Given the description of an element on the screen output the (x, y) to click on. 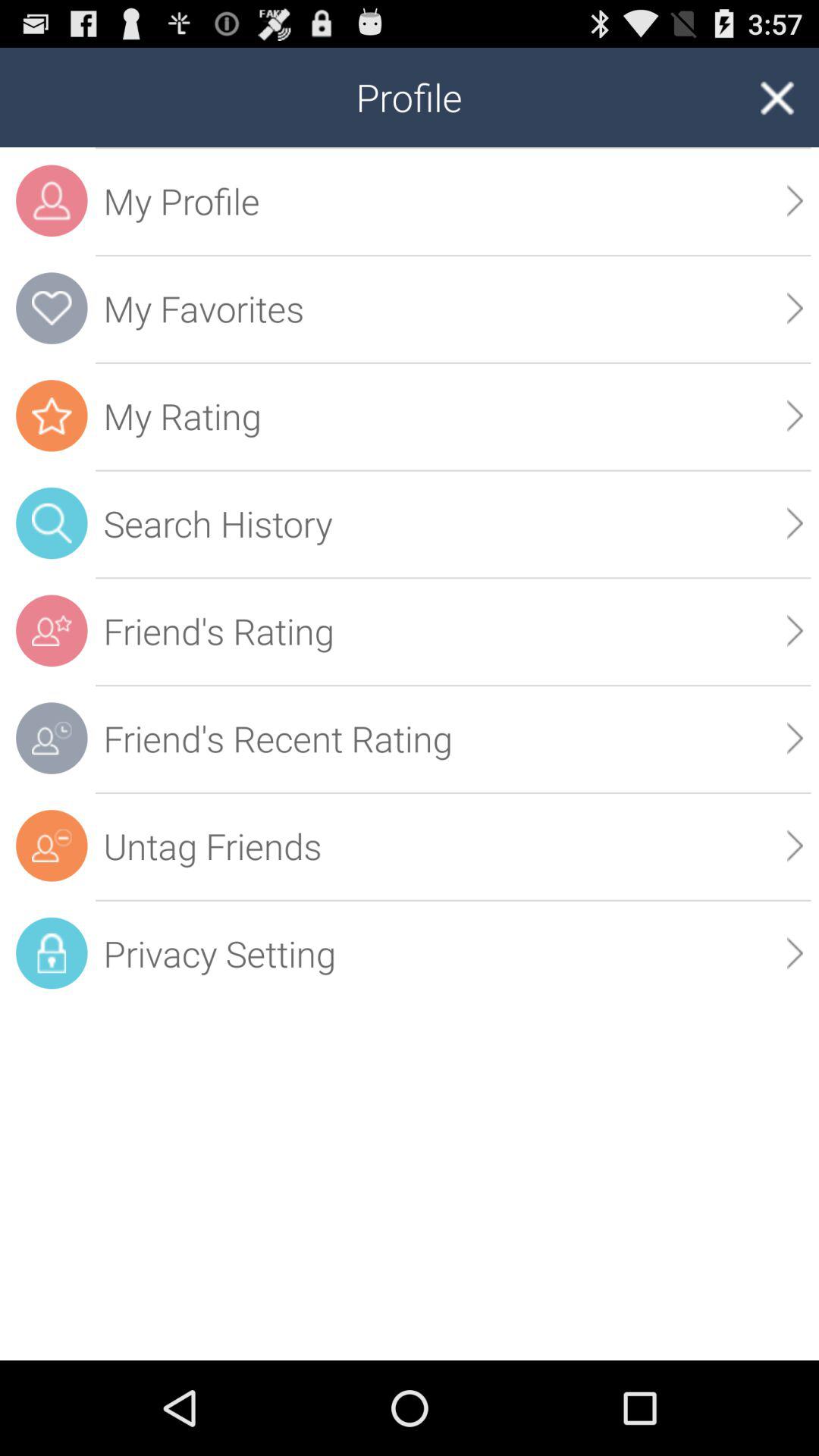
jump until the my favorites (453, 308)
